Given the description of an element on the screen output the (x, y) to click on. 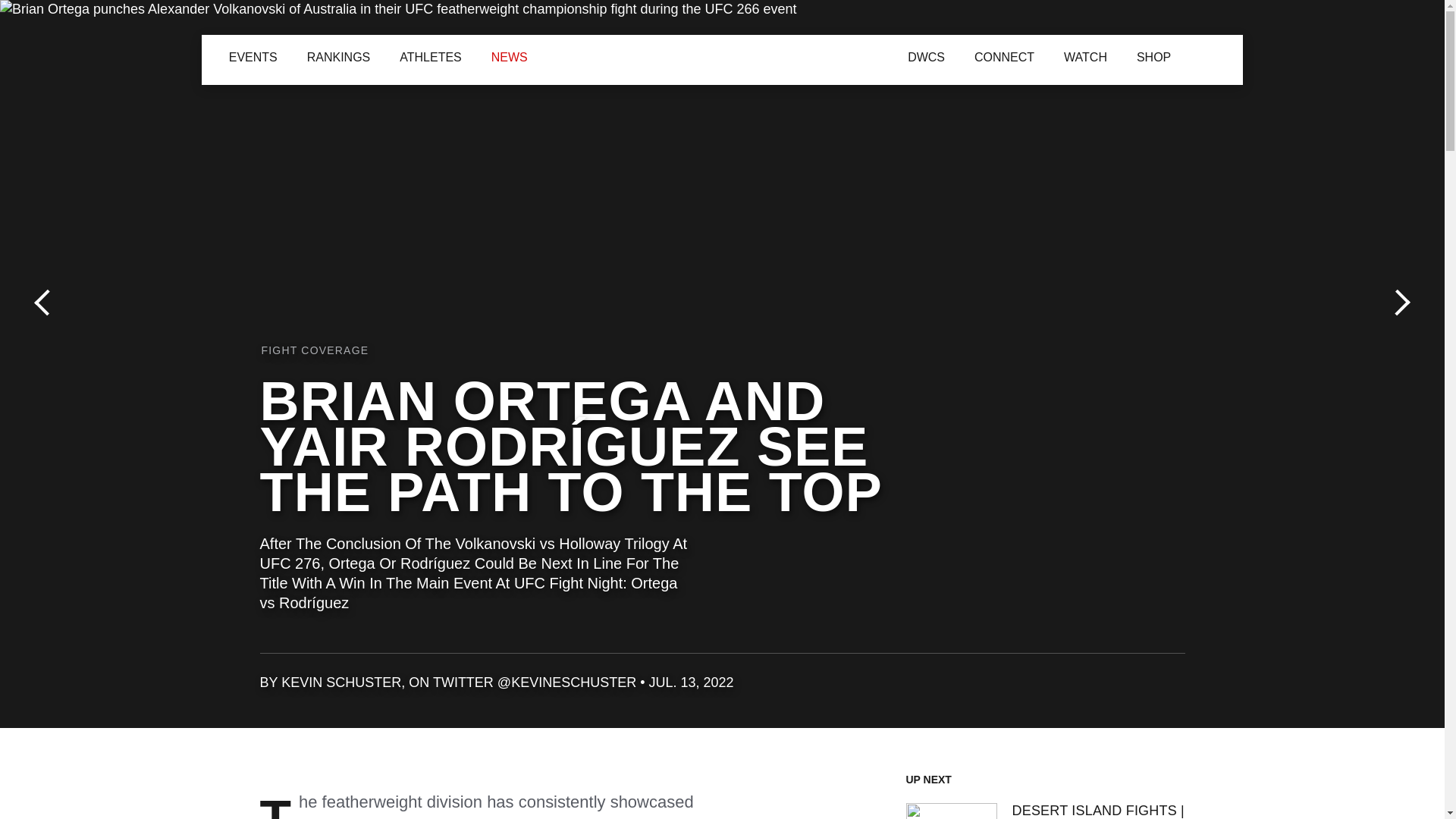
Dana White's Contender Series Returns! (791, 54)
Skip to main content (9, 9)
License UFC Video Content (913, 688)
